Given the description of an element on the screen output the (x, y) to click on. 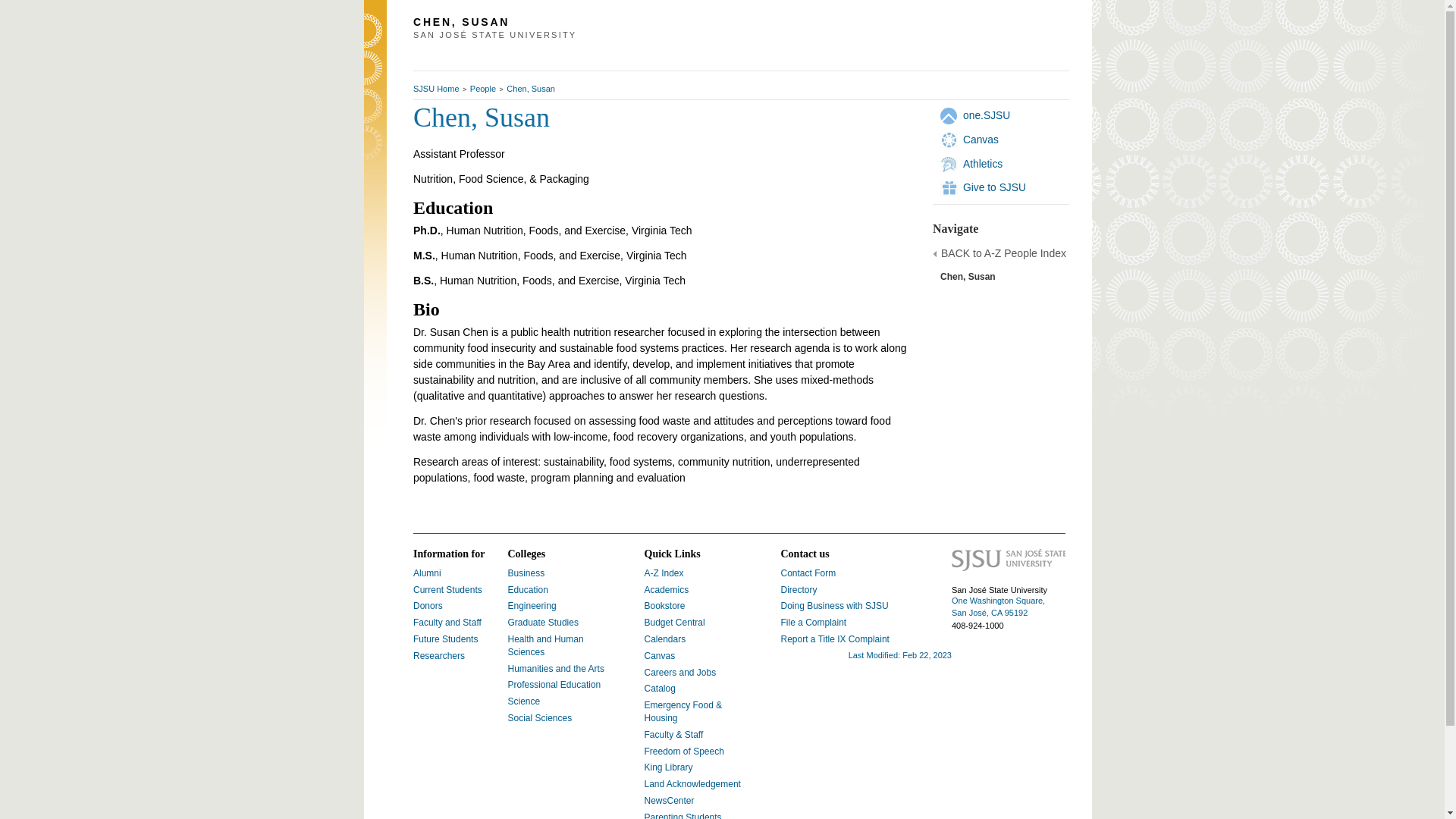
Canvas (980, 139)
Health and Human Sciences (545, 645)
Science (524, 701)
Budget Central (674, 622)
Alumni (427, 573)
A-Z Index (664, 573)
Researchers (438, 655)
Give to SJSU (994, 186)
Careers and Jobs (680, 672)
Calendars (665, 638)
Humanities and the Arts (556, 668)
Academics (666, 589)
Education (528, 589)
one.SJSU (986, 114)
Faculty and Staff (447, 622)
